Given the description of an element on the screen output the (x, y) to click on. 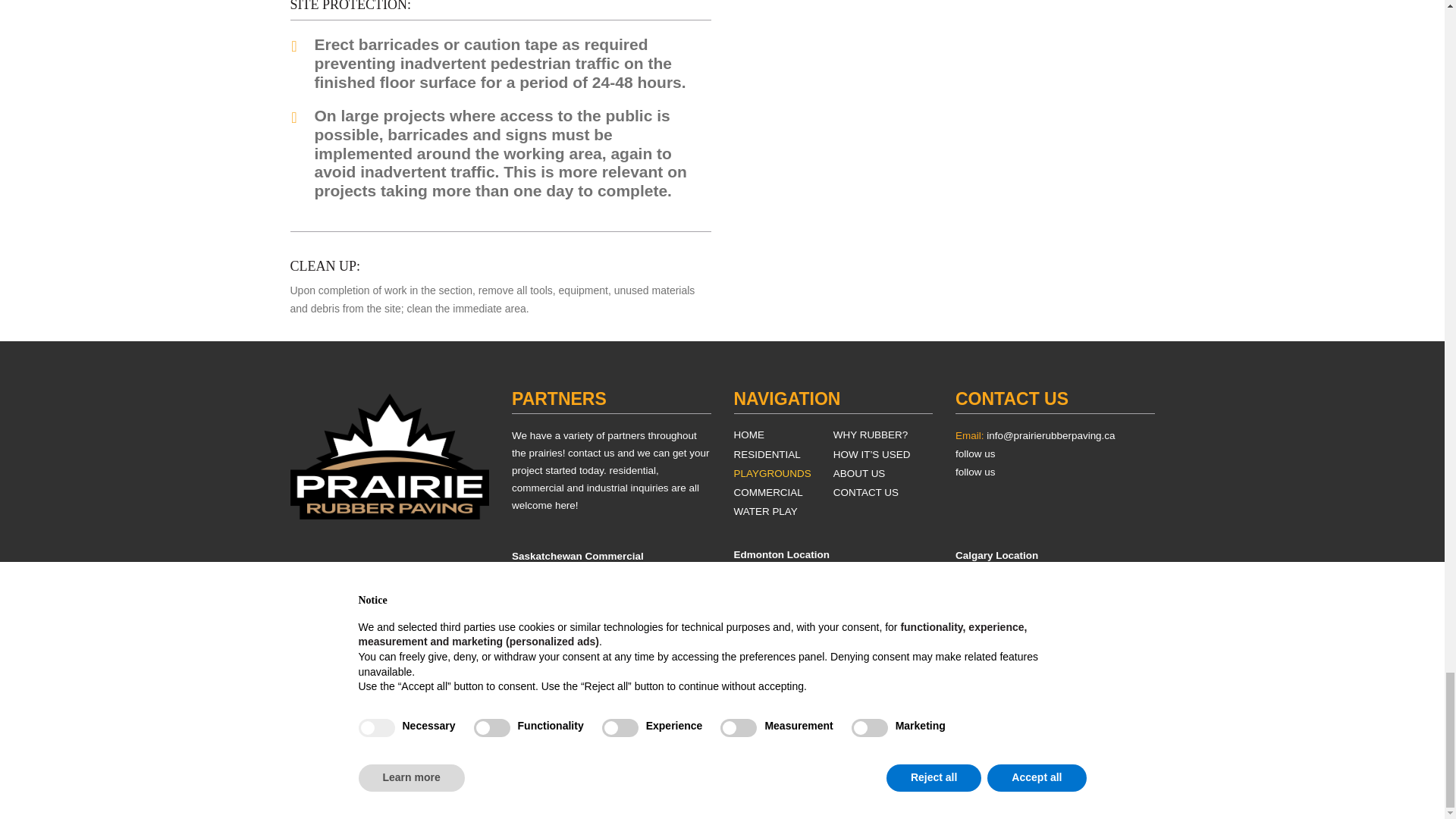
306.321.6770 (577, 617)
HOME (782, 435)
RESIDENTIAL (782, 454)
WHY RUBBER? (882, 435)
ABOUT US (882, 473)
306.539.5519 (348, 607)
COMMERCIAL (577, 571)
CONTACT US (782, 492)
PLAYGROUNDS (882, 492)
